Given the description of an element on the screen output the (x, y) to click on. 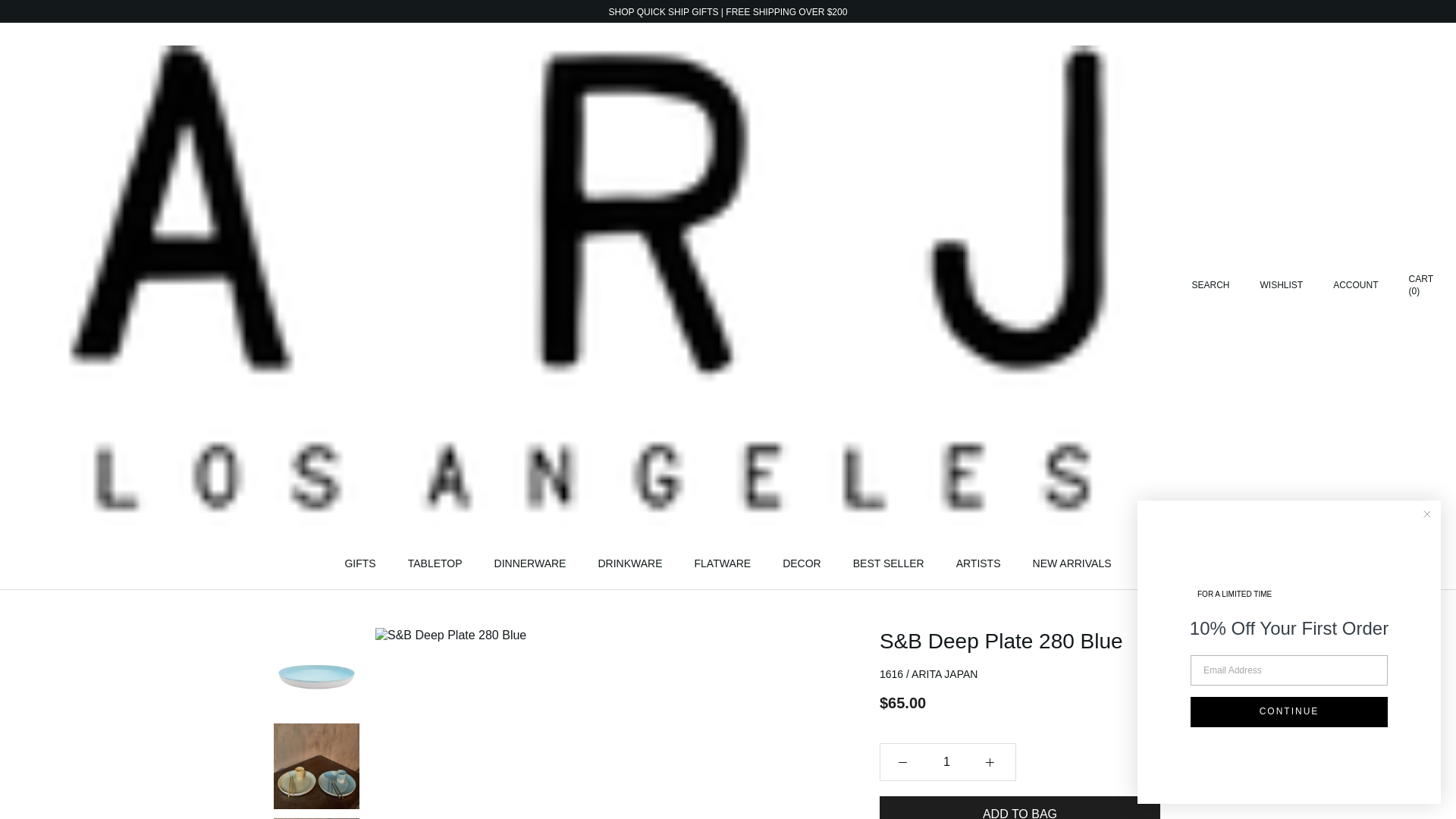
1 (946, 762)
